Given the description of an element on the screen output the (x, y) to click on. 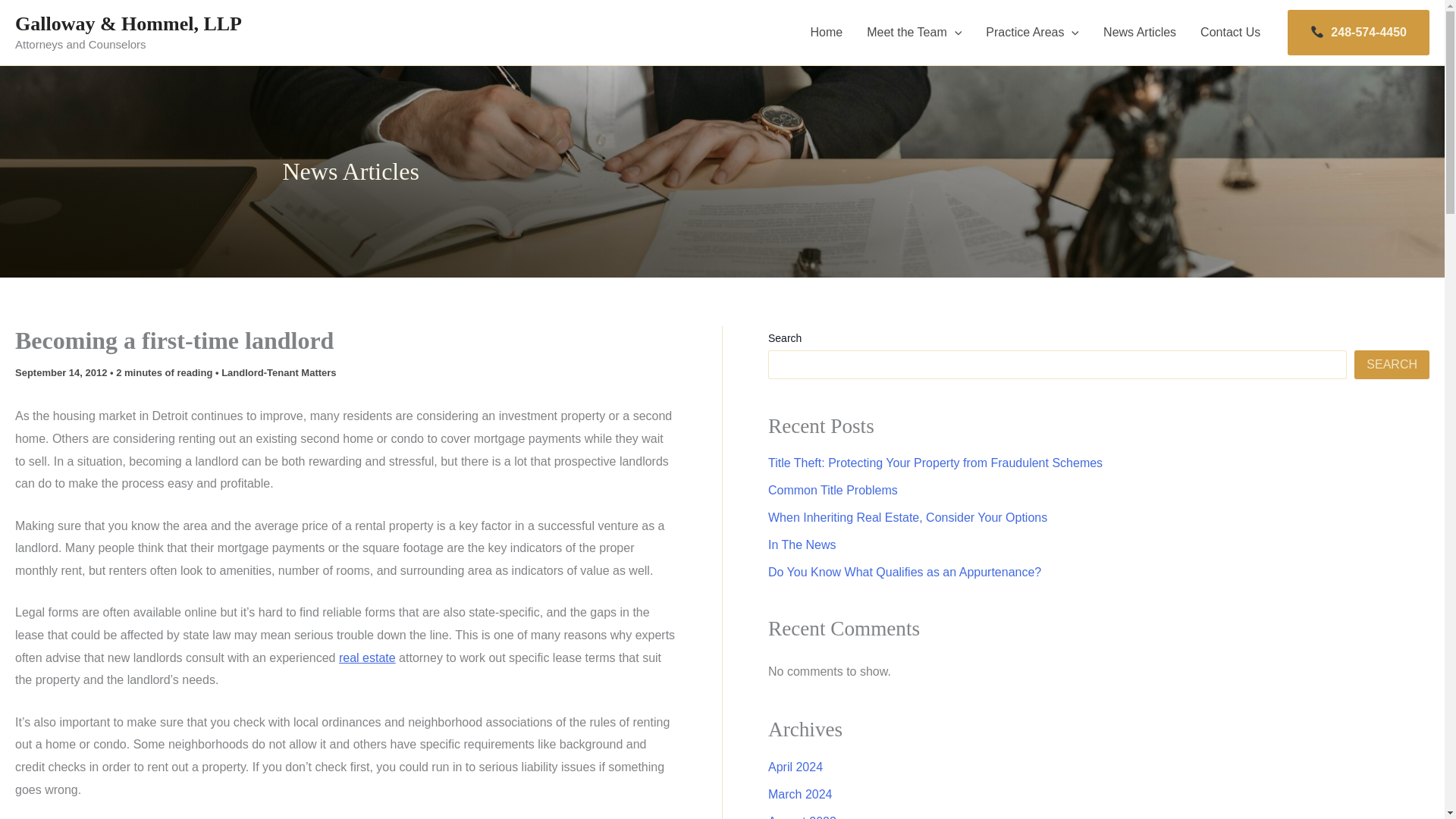
Landlord-Tenant Matters (278, 372)
  248-574-4450 (1358, 32)
real estate (367, 657)
Meet the Team (914, 32)
News Articles (1139, 32)
Contact Us (1230, 32)
Practice Areas (1032, 32)
In The News (801, 544)
Common Title Problems (833, 490)
When Inheriting Real Estate, Consider Your Options (907, 517)
Home (825, 32)
SEARCH (1391, 364)
